Given the description of an element on the screen output the (x, y) to click on. 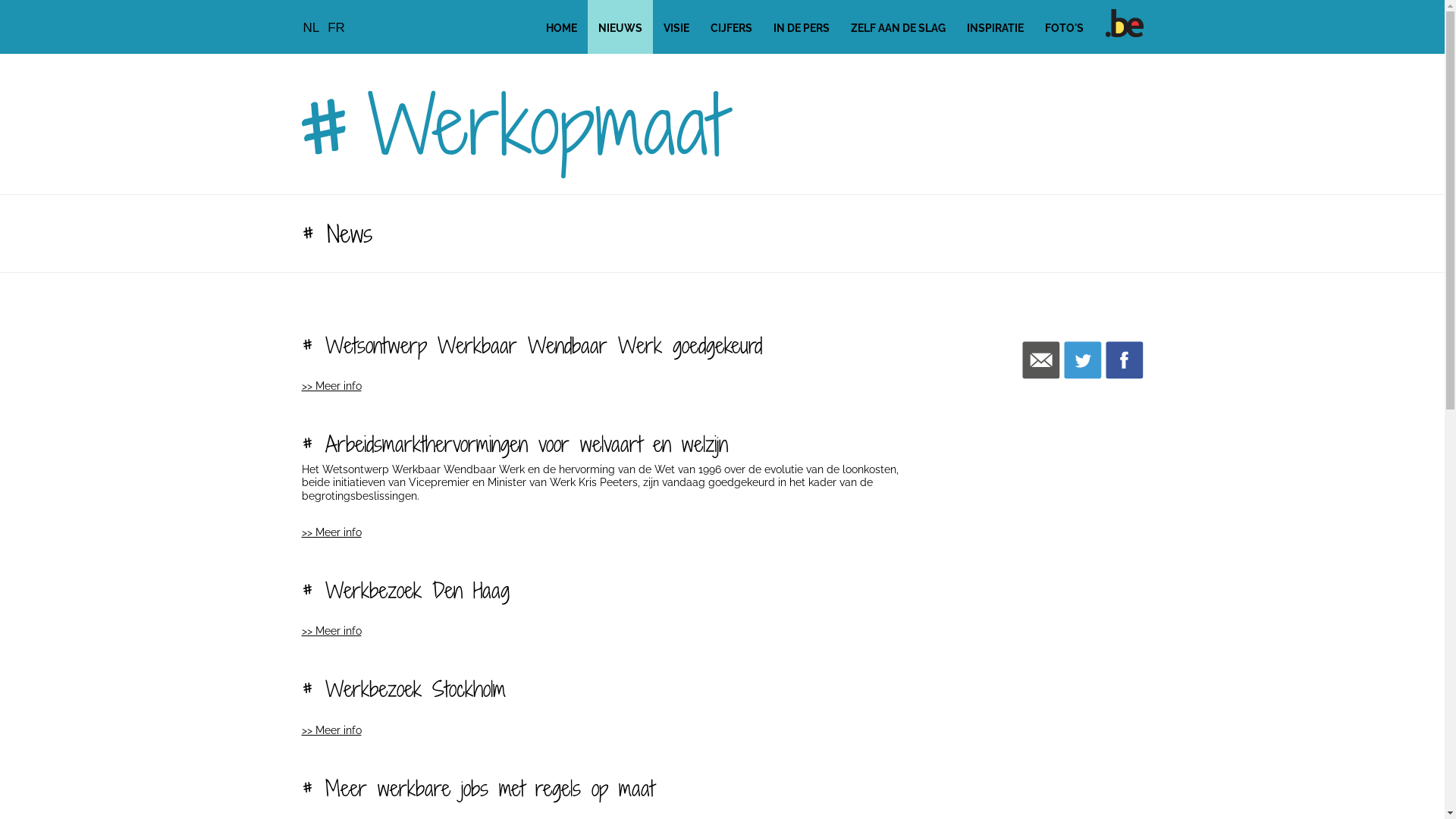
>> Meer info Element type: text (331, 532)
facebook Element type: hover (1124, 352)
VISIE Element type: text (675, 28)
NL Element type: text (311, 27)
>> Meer info Element type: text (331, 630)
NIEUWS Element type: text (619, 28)
FOTO'S Element type: text (1064, 28)
FR Element type: text (335, 27)
IN DE PERS Element type: text (801, 28)
email Element type: hover (1041, 352)
twitter Element type: hover (1082, 352)
>> Meer info Element type: text (331, 730)
>> Meer info Element type: text (331, 385)
HOME Element type: text (561, 28)
#Werkopmaat Element type: text (513, 124)
INSPIRATIE Element type: text (994, 28)
ZELF AAN DE SLAG Element type: text (898, 28)
Skip to main content Element type: text (51, 0)
CIJFERS Element type: text (730, 28)
